Given the description of an element on the screen output the (x, y) to click on. 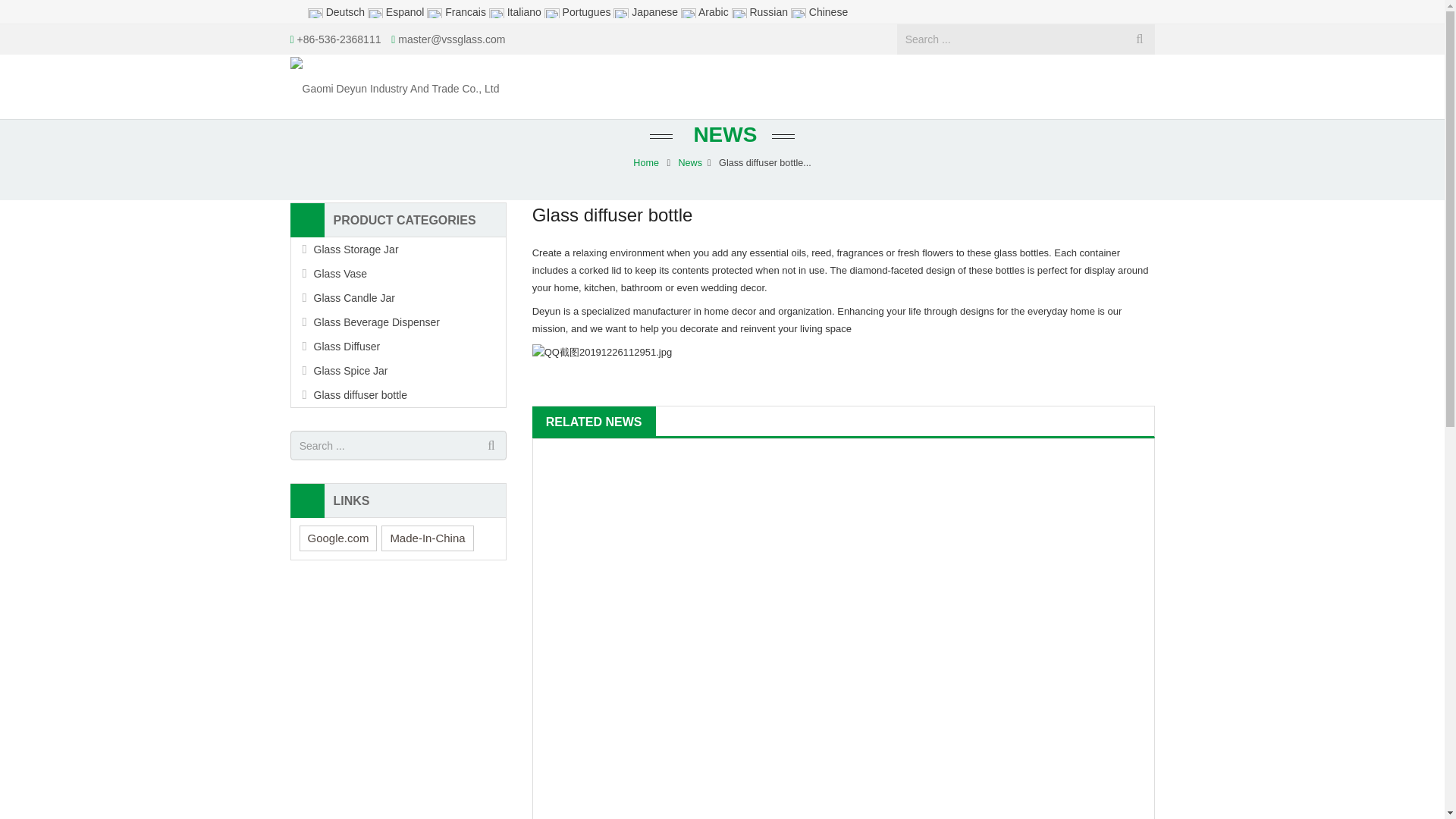
1577684710965154.jpg (601, 352)
Home (646, 163)
News (689, 163)
Russian (761, 11)
News (689, 163)
Arabic (706, 11)
Japanese (646, 11)
NEWS (722, 134)
Portugues (579, 11)
Chinese (818, 11)
